Given the description of an element on the screen output the (x, y) to click on. 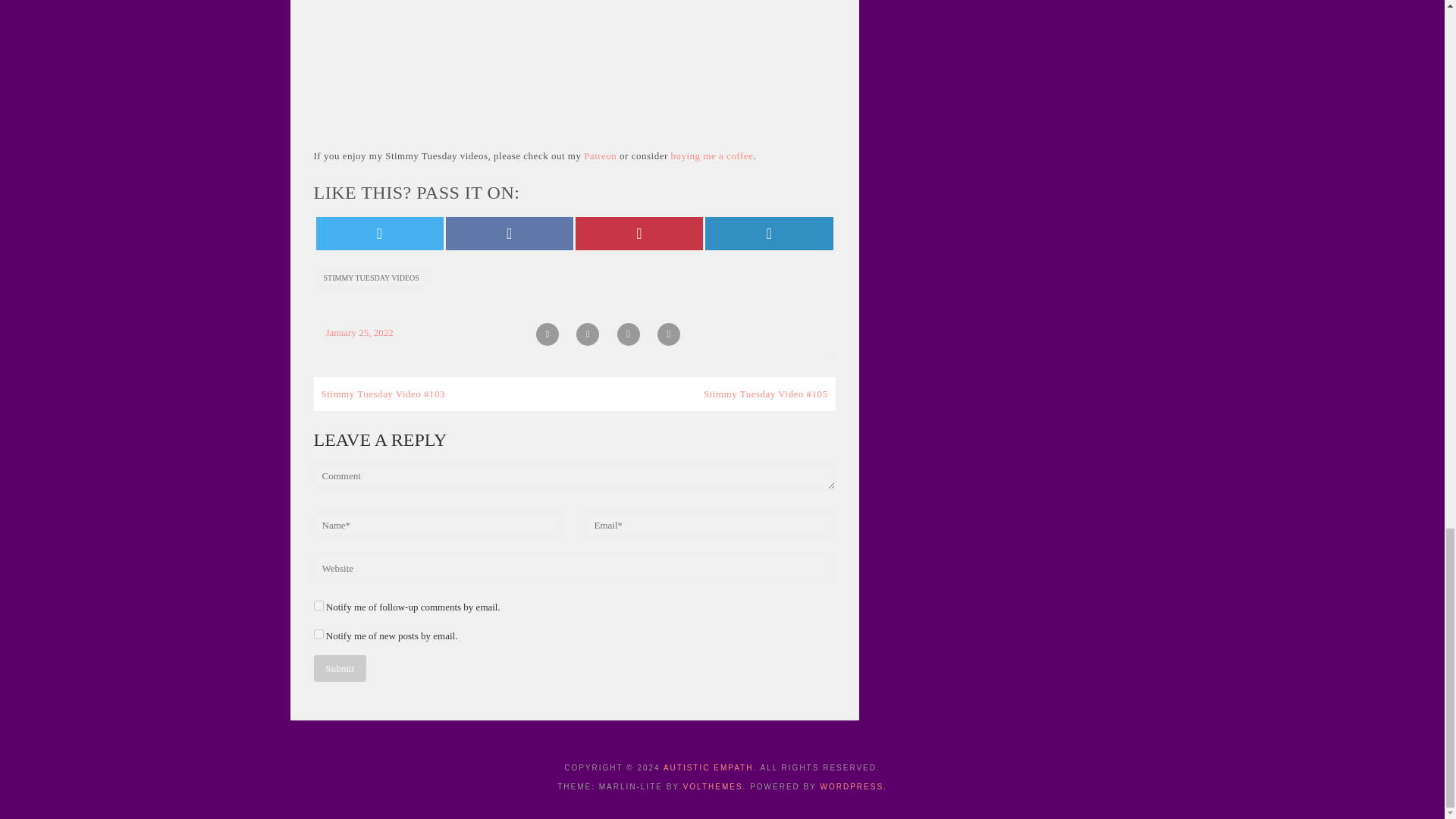
subscribe (318, 634)
Share on Twitter (378, 233)
VOLTHEMES (712, 786)
subscribe (318, 605)
Share on Pinterest (639, 233)
Submit (340, 668)
Submit (340, 668)
Autistic Empath (708, 767)
VolThemes (712, 786)
Patreon (599, 155)
